Given the description of an element on the screen output the (x, y) to click on. 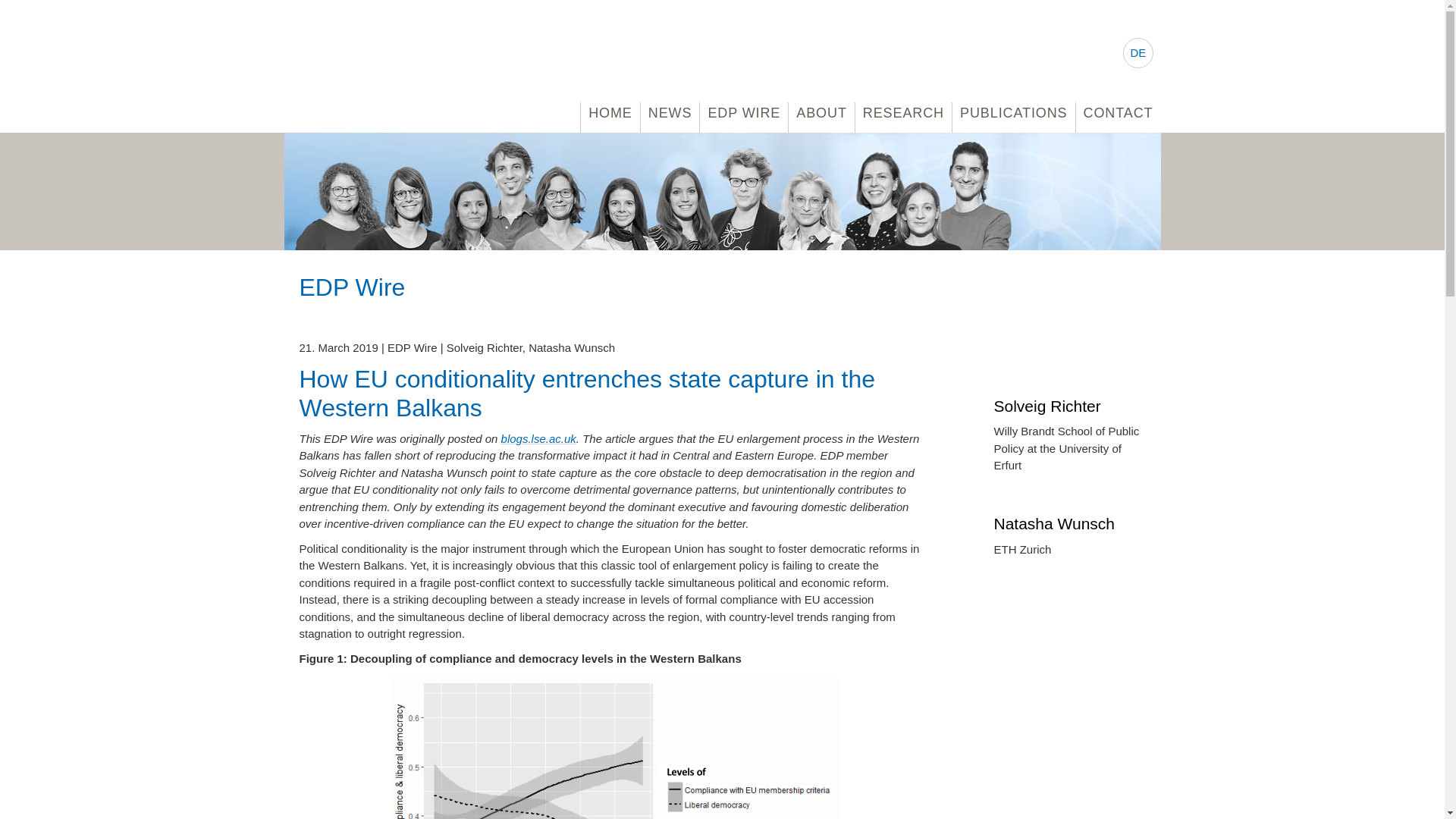
Deutsche Version (1137, 52)
ABOUT (821, 112)
DE (1137, 52)
RESEARCH (904, 112)
HOME (610, 112)
PUBLICATIONS (1013, 112)
NEWS (670, 112)
CONTACT (1117, 112)
blogs.lse.ac.uk (538, 438)
Solveig Richter (1068, 405)
